Given the description of an element on the screen output the (x, y) to click on. 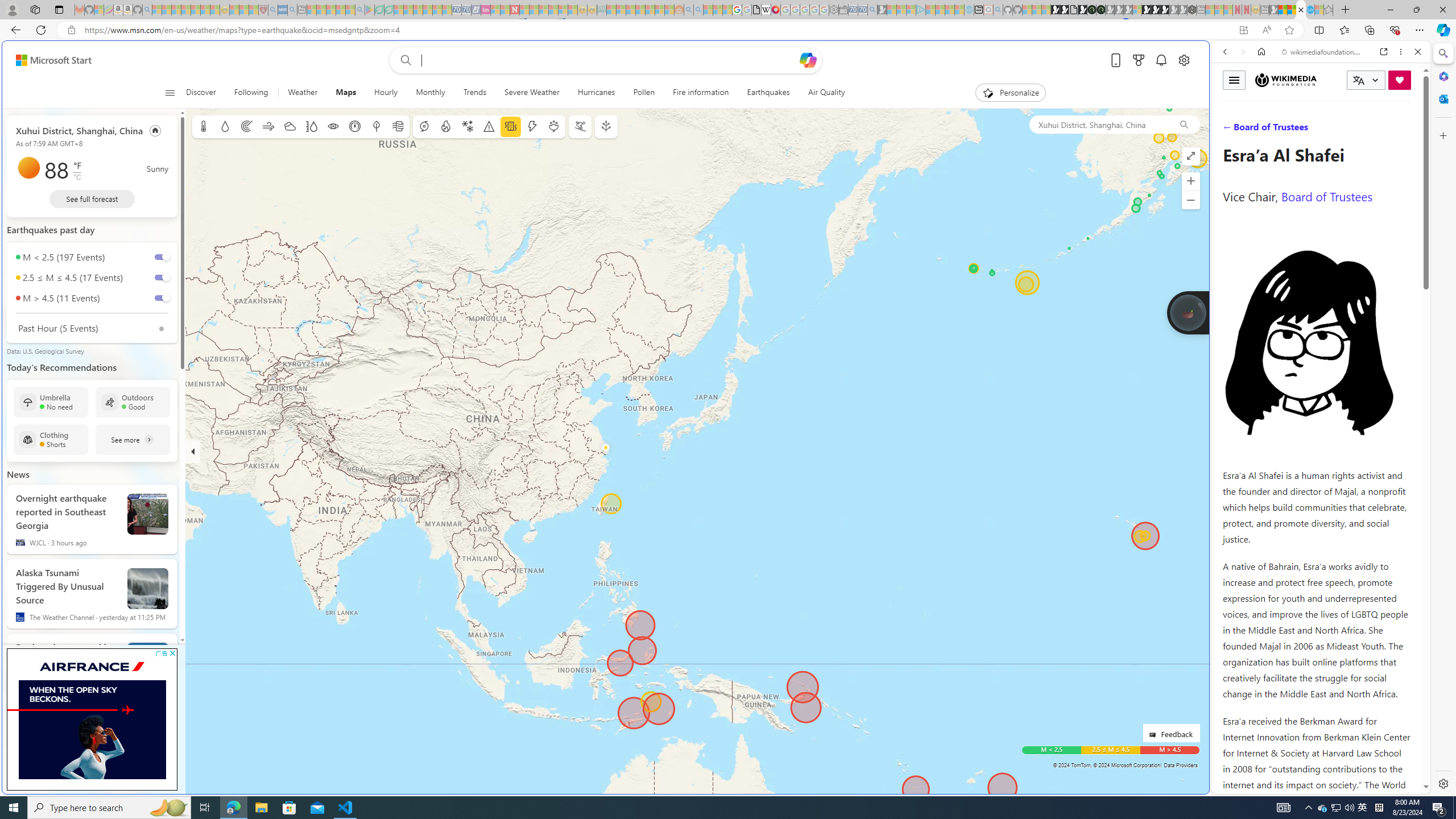
Preferences (1403, 129)
Hourly (386, 92)
Address and search bar (658, 29)
Zoom out (1190, 199)
Severe Weather (531, 92)
Trends (475, 92)
See full forecast (92, 199)
Trends (474, 92)
Monthly (430, 92)
Play Cave FRVR in your browser | Games from Microsoft Start (922, 242)
